Given the description of an element on the screen output the (x, y) to click on. 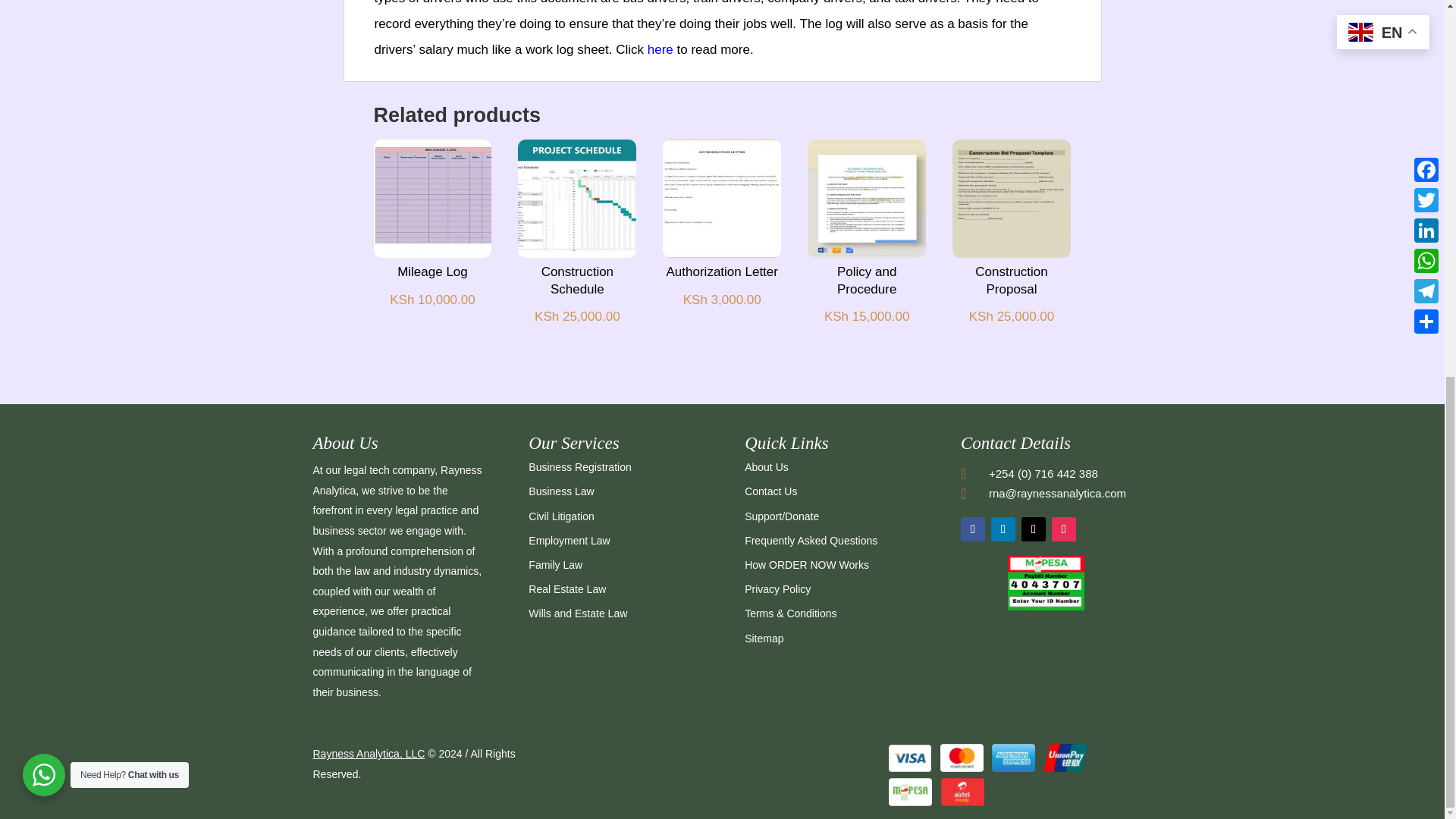
Follow on Instagram (1063, 528)
Follow on Facebook (972, 528)
MPESA PAYBILL NO. (1045, 606)
Follow on LinkedIn (1002, 528)
Follow on X (1033, 528)
